Given the description of an element on the screen output the (x, y) to click on. 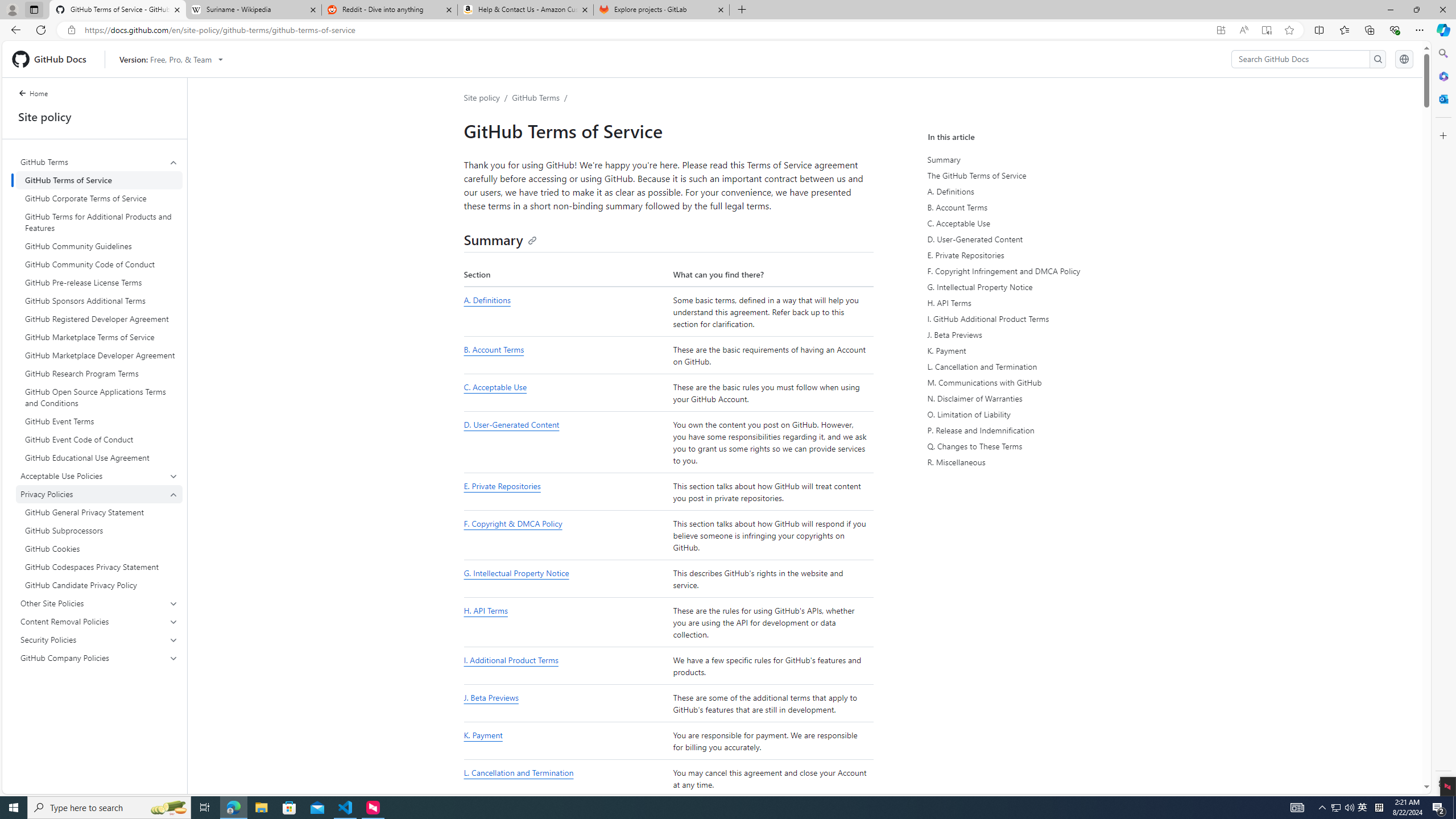
Suriname - Wikipedia (253, 9)
GitHub Open Source Applications Terms and Conditions (99, 396)
G. Intellectual Property Notice (516, 573)
GitHub Event Code of Conduct (99, 439)
R. Miscellaneous (1032, 462)
GitHub Marketplace Developer Agreement (99, 355)
Summary (1032, 159)
Help & Contact Us - Amazon Customer Service (525, 9)
GitHub Codespaces Privacy Statement (99, 566)
G. Intellectual Property Notice (565, 579)
D. User-Generated Content (511, 424)
GitHub Terms of Service - GitHub Docs (117, 9)
H. API Terms (1032, 302)
GitHub Marketplace Terms of Service (99, 337)
